Given the description of an element on the screen output the (x, y) to click on. 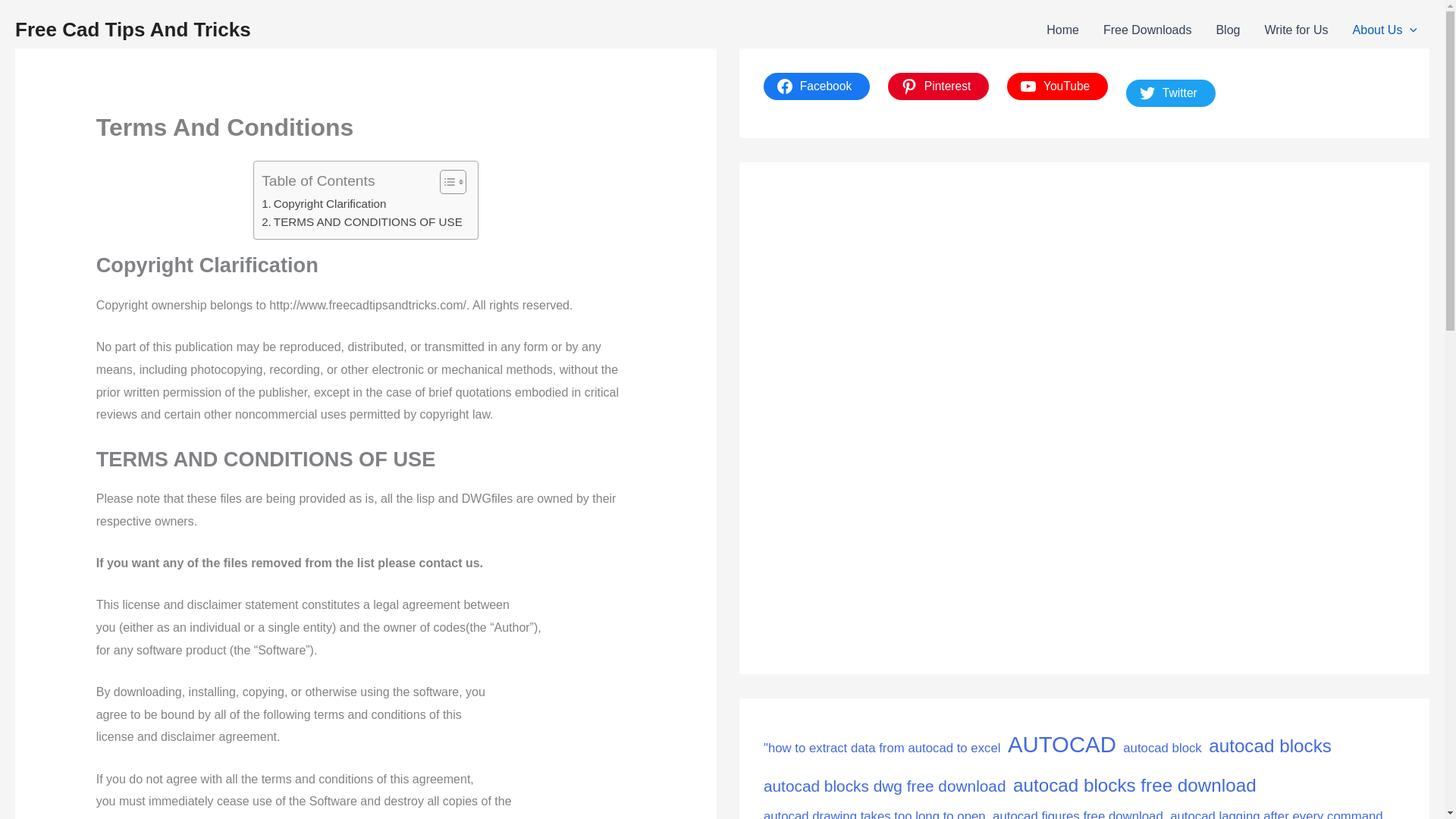
autocad blocks (1270, 746)
autocad blocks free download (1134, 785)
TERMS AND CONDITIONS OF USE (362, 221)
autocad figures free download (1077, 811)
autocad block (1161, 748)
autocad drawing takes too long to open (873, 811)
Copyright Clarification (323, 203)
autocad blocks dwg free download (884, 786)
Free Cad Tips And Tricks (132, 29)
autocad lagging after every command (1276, 811)
"how to extract data from autocad to excel (881, 748)
About Us (1384, 30)
Write for Us (1295, 30)
Free Downloads (1147, 30)
Home (1061, 30)
